Given the description of an element on the screen output the (x, y) to click on. 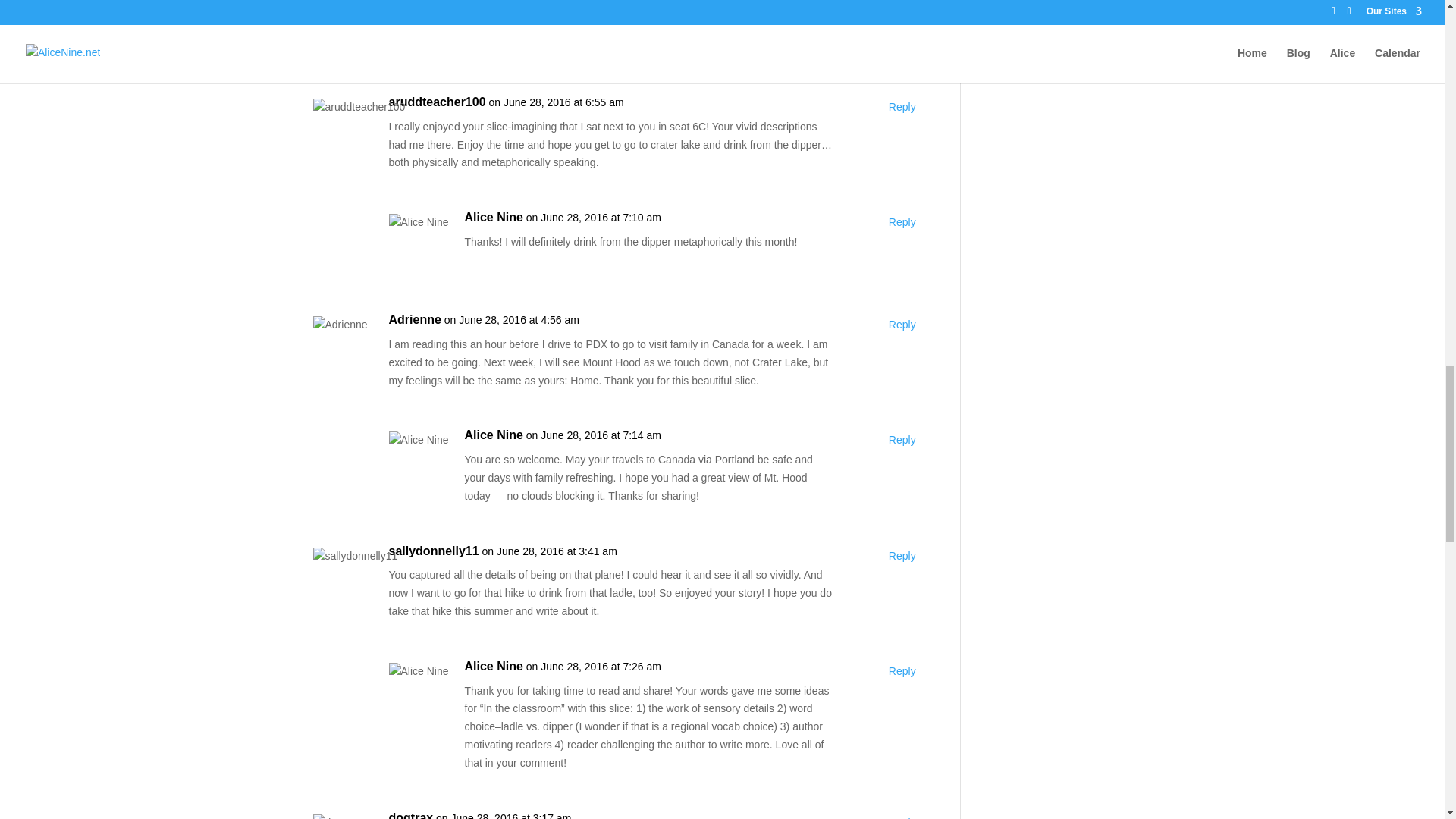
Reply (901, 7)
Reply (901, 816)
Reply (901, 671)
dogtrax (410, 814)
Reply (901, 222)
sallydonnelly11 (433, 551)
Reply (901, 107)
Reply (901, 440)
aruddteacher100 (436, 102)
Reply (901, 556)
